Given the description of an element on the screen output the (x, y) to click on. 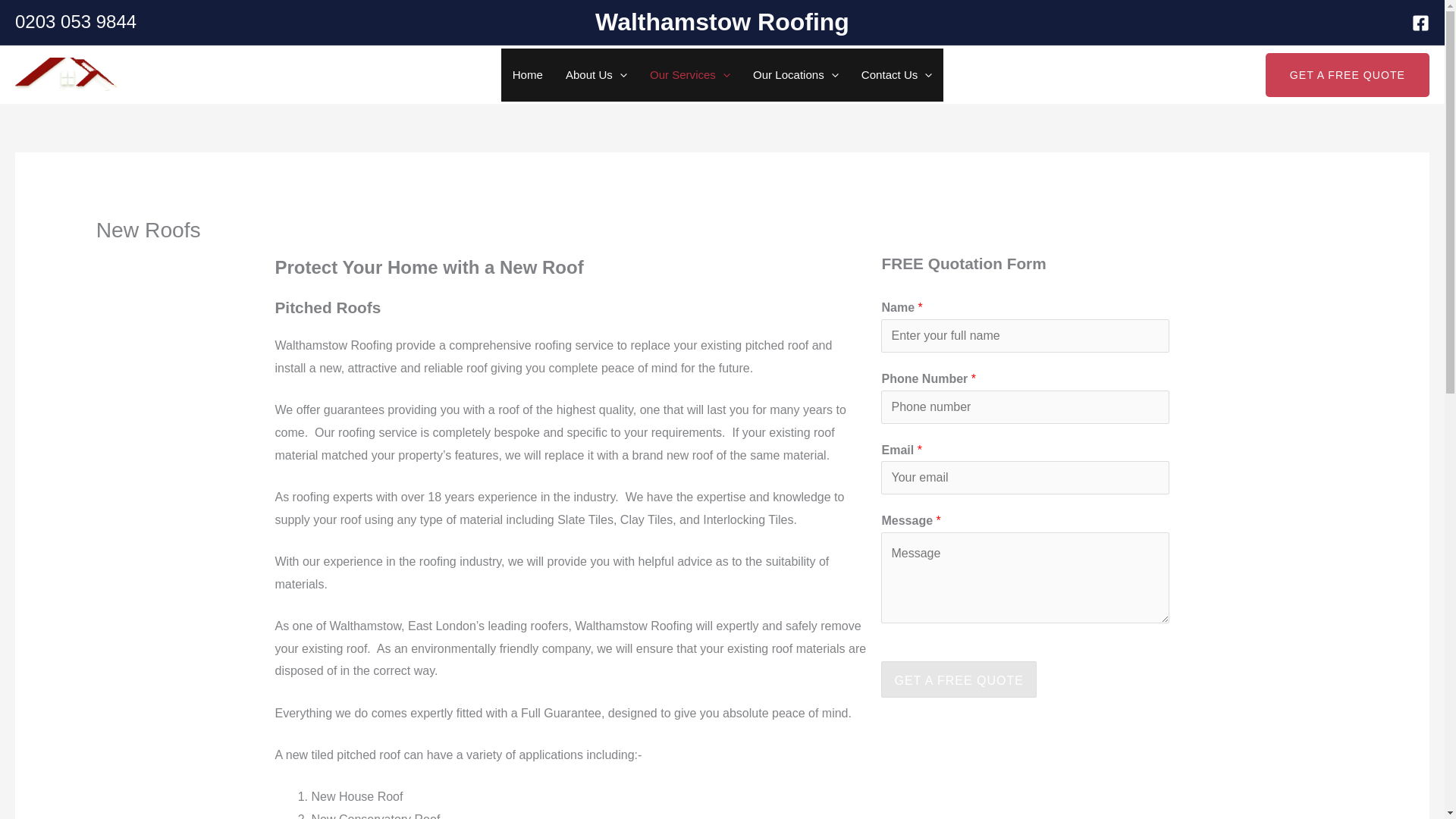
Home (527, 74)
GET A FREE QUOTE (1347, 75)
Contact Us (896, 74)
About Us (596, 74)
Our Services (690, 74)
GET A FREE QUOTE (957, 678)
Our Locations (795, 74)
